Given the description of an element on the screen output the (x, y) to click on. 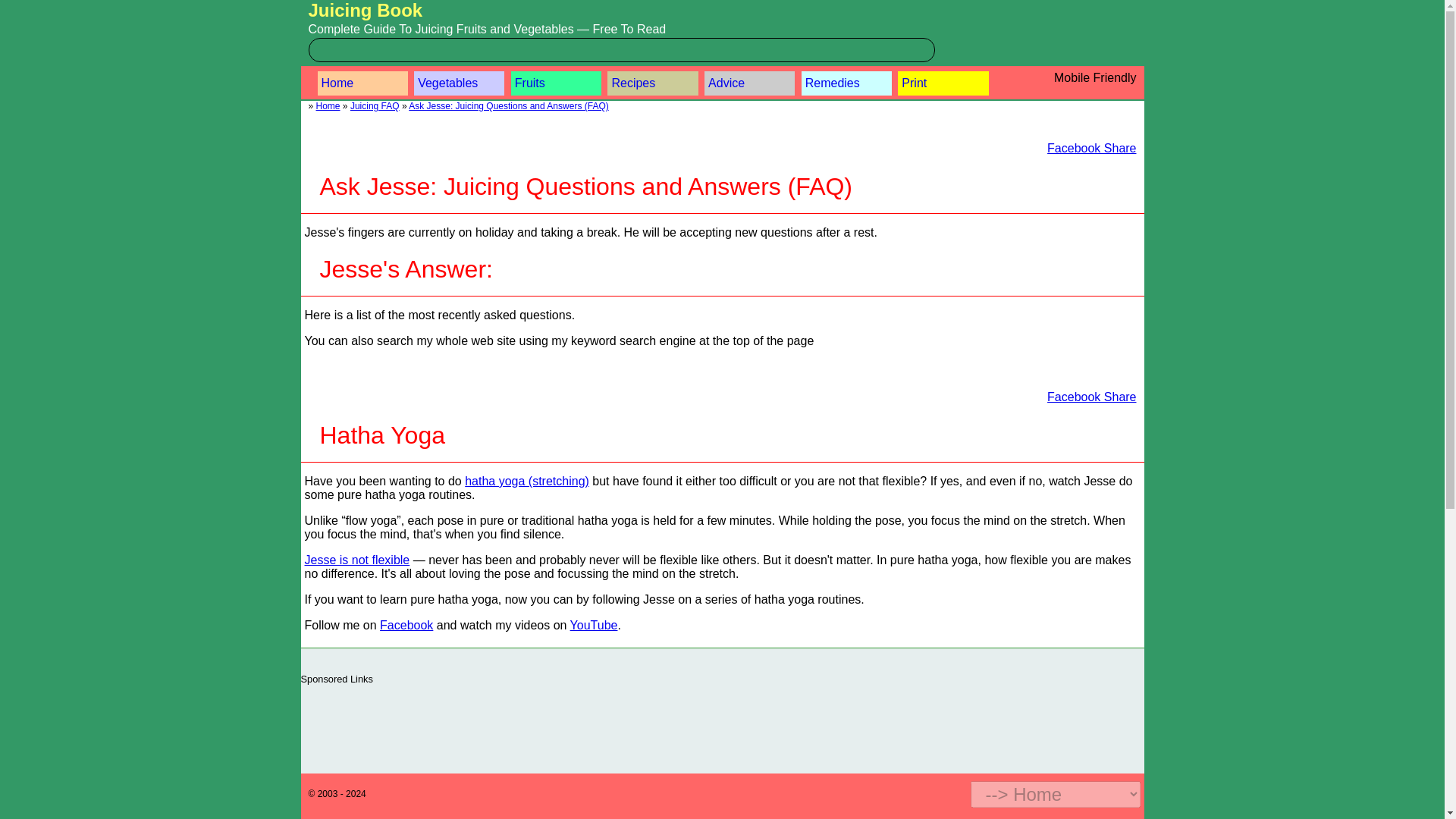
Jesse is not flexible (357, 559)
Vegetable Juice: Guide to juicing vegetables (458, 83)
Free Juice Recipes (652, 83)
Fruits (556, 83)
Home (362, 83)
Responsible Juicing: Juicing Tips and Juicing Advice (749, 83)
Vegetables (458, 83)
Search (21, 7)
Juicing FAQ (374, 105)
Facebook (406, 625)
